Given the description of an element on the screen output the (x, y) to click on. 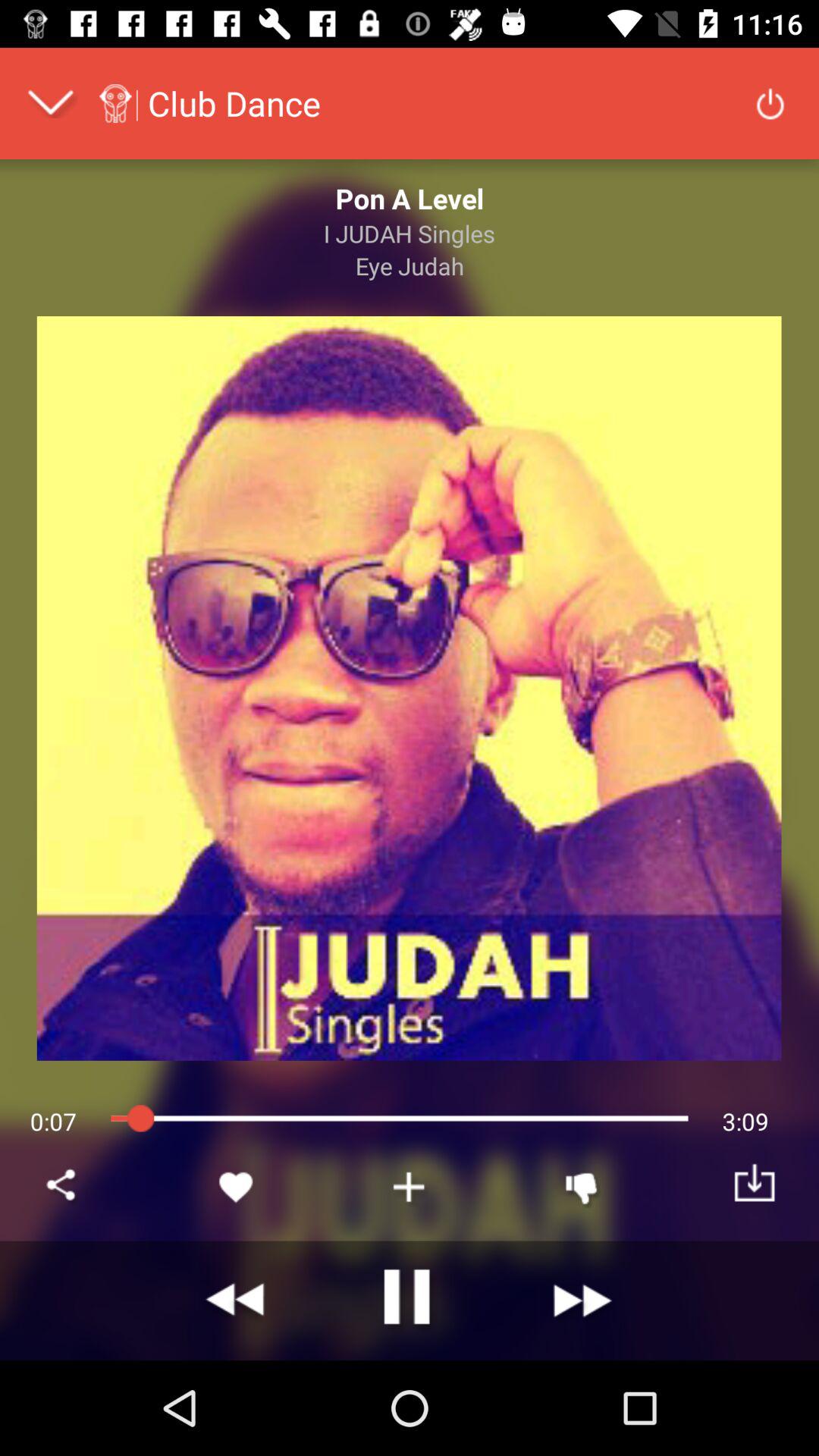
click icon next to club dance item (770, 102)
